Given the description of an element on the screen output the (x, y) to click on. 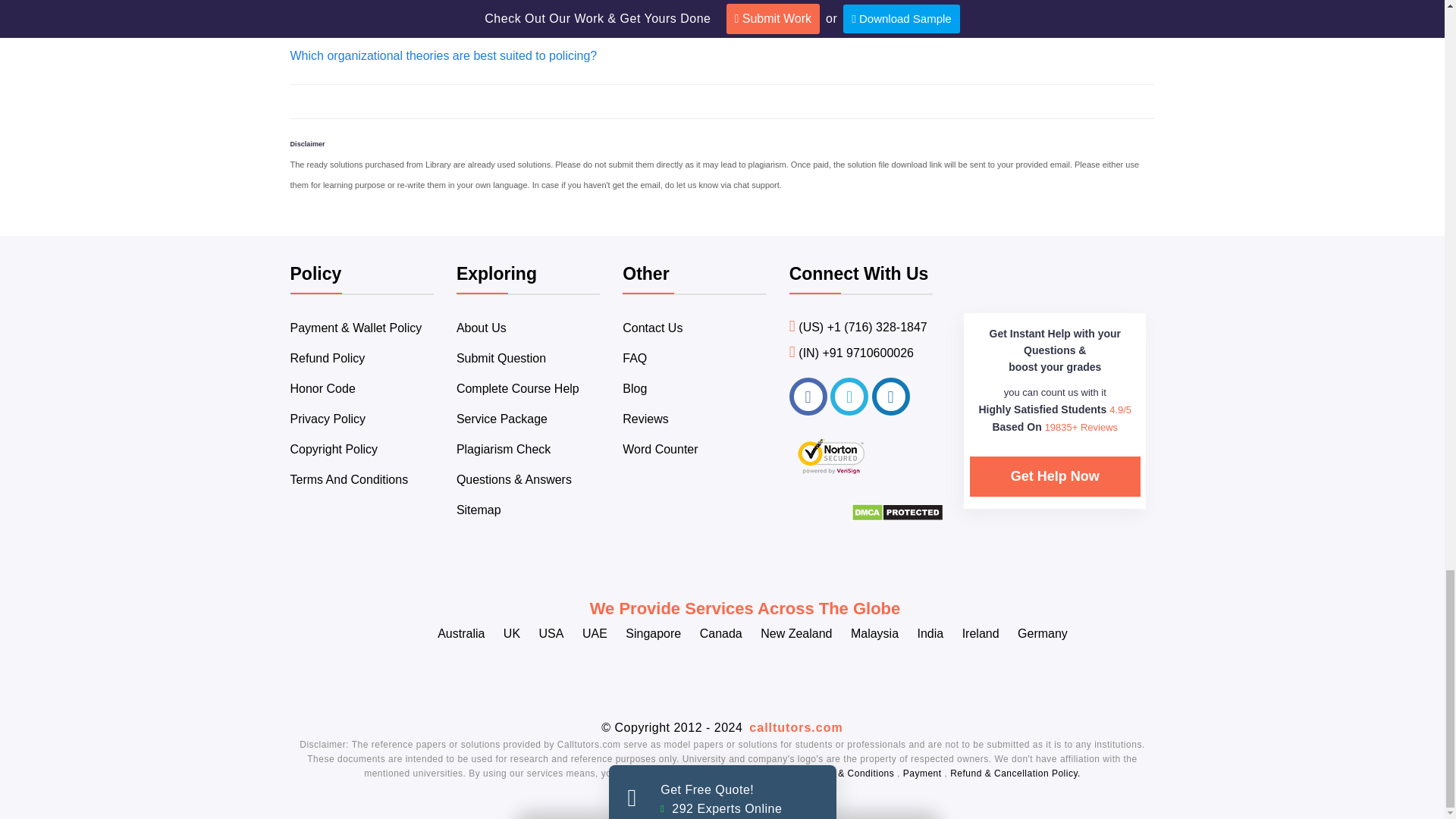
Which organizational theories are best suited to policing? (442, 55)
Refund Policy (327, 358)
Twitter (848, 396)
Honor Code (322, 388)
Facebook (808, 396)
Linked In (891, 396)
CallTutors DMCA.com Protection Status (897, 517)
